Given the description of an element on the screen output the (x, y) to click on. 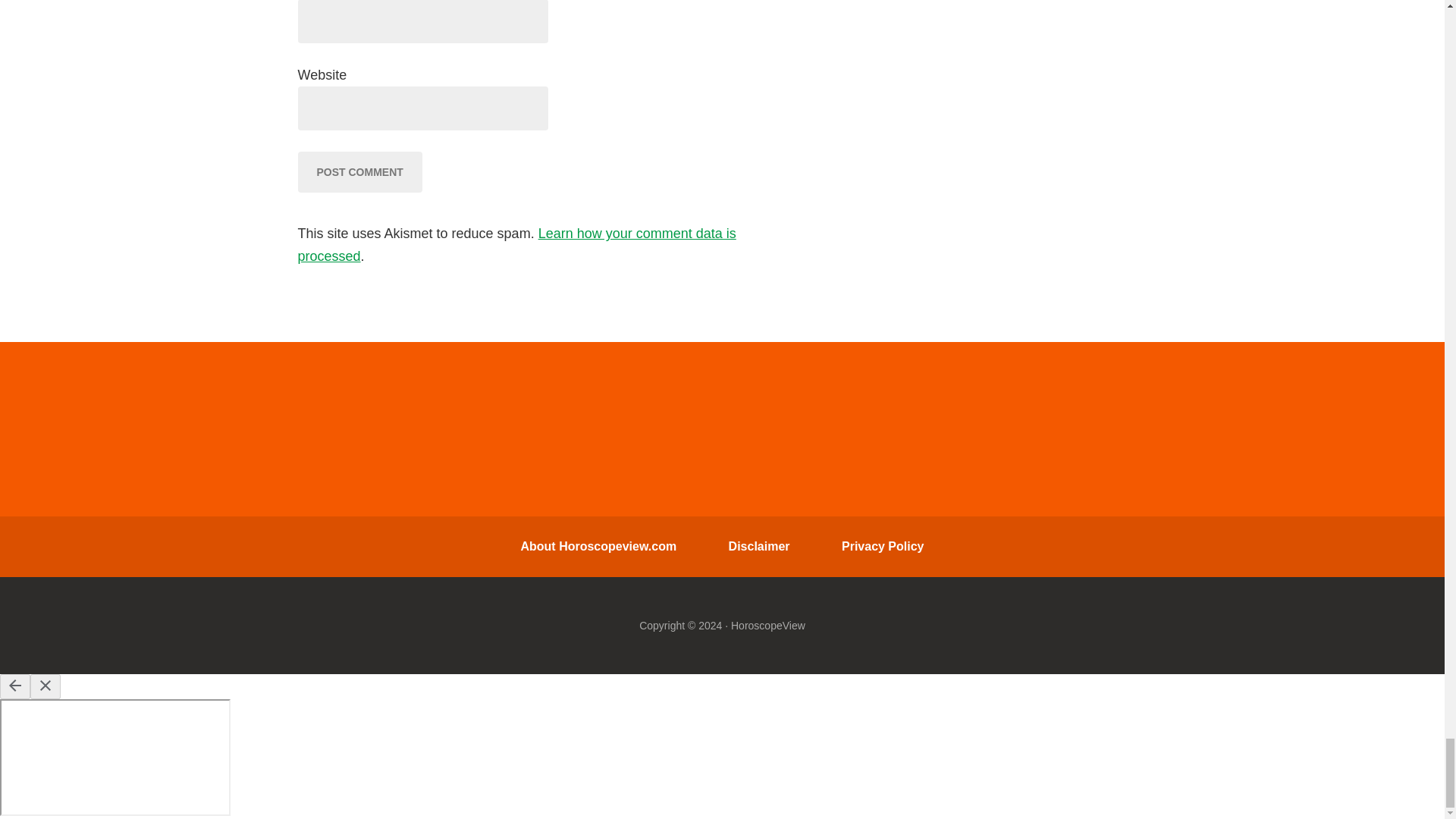
Post Comment (359, 171)
Learn how your comment data is processed (516, 244)
Post Comment (359, 171)
